Given the description of an element on the screen output the (x, y) to click on. 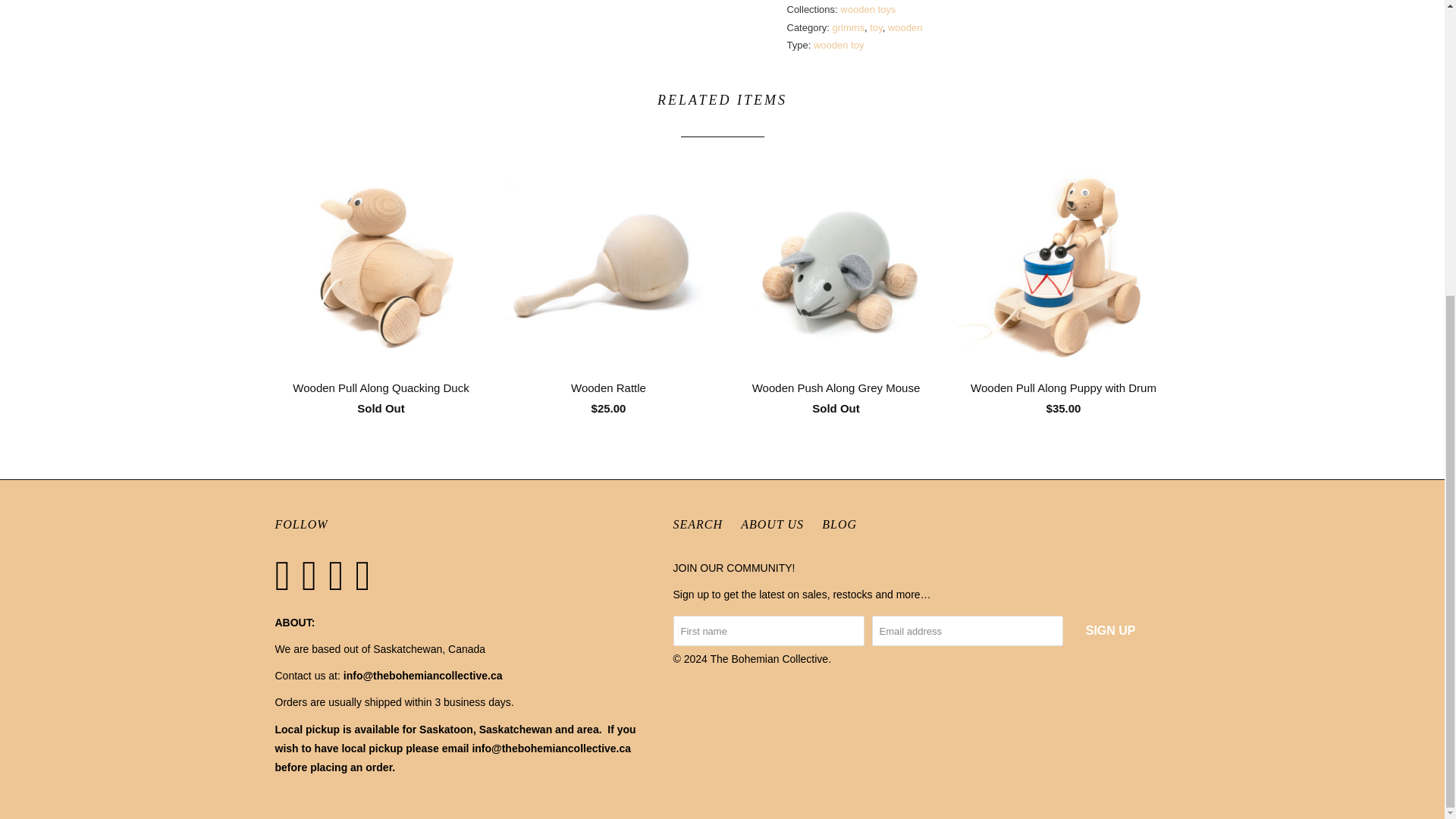
Products tagged wooden (905, 27)
Sign Up (1110, 630)
wooden toys (867, 9)
Products tagged grimms (848, 27)
wooden toy (838, 44)
Products tagged toy (875, 27)
